Given the description of an element on the screen output the (x, y) to click on. 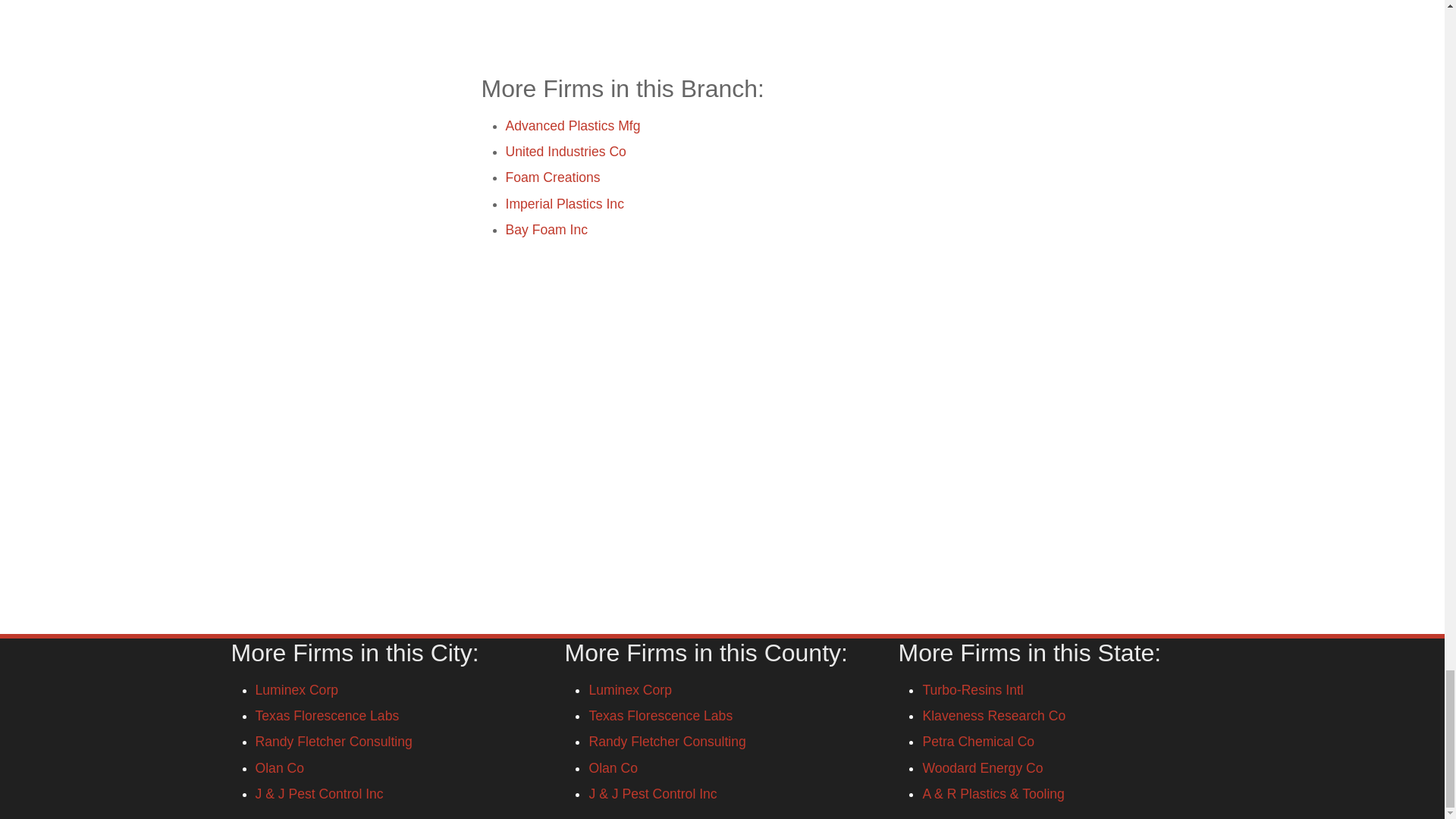
United Industries Co (565, 151)
Advanced Plastics Mfg (572, 125)
Bay Foam Inc (546, 229)
Foam Creations (552, 177)
Imperial Plastics Inc (564, 203)
